Given the description of an element on the screen output the (x, y) to click on. 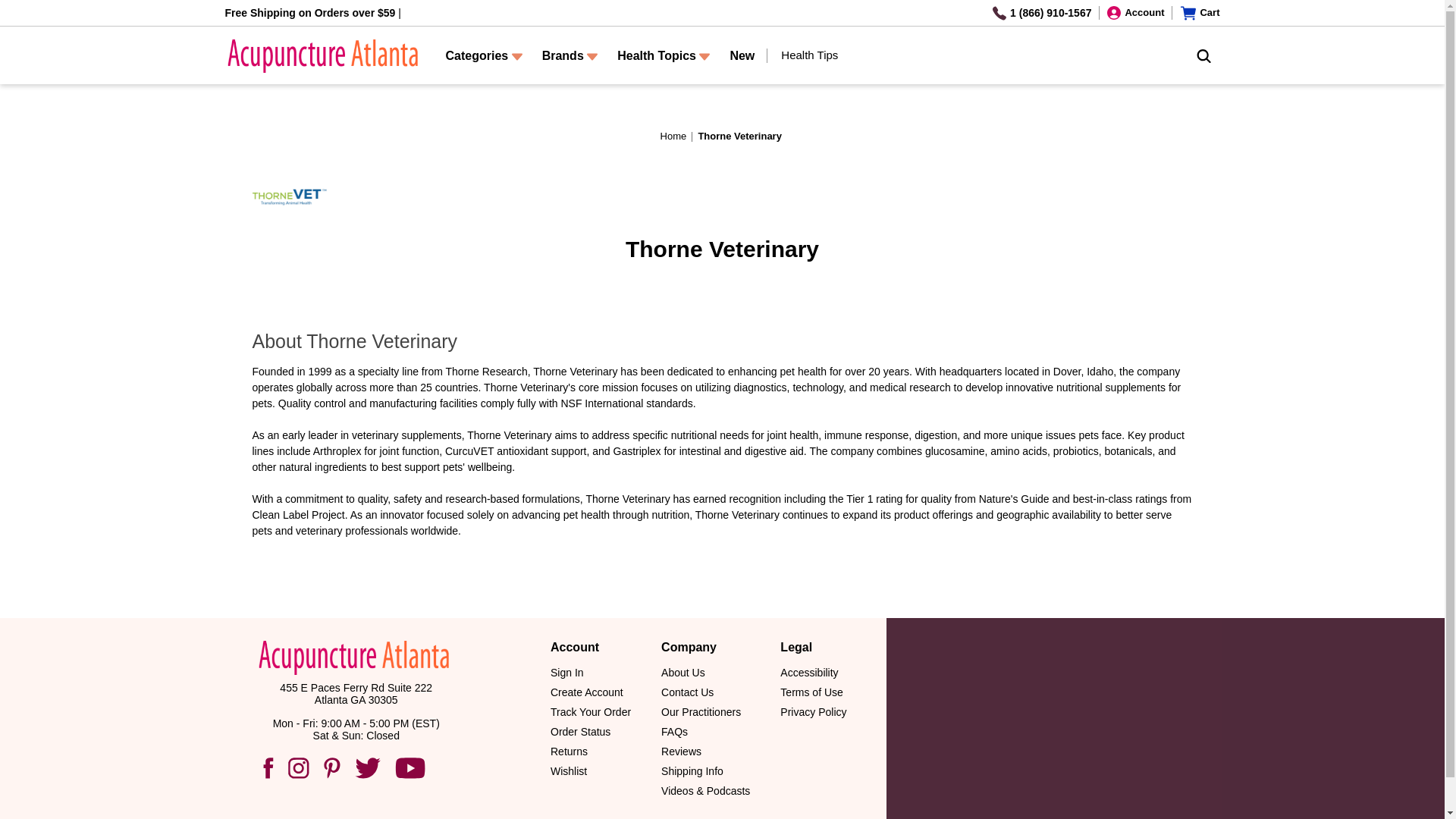
Thorne Veterinary (289, 197)
Cart (1199, 12)
Account (1134, 12)
Categories (483, 55)
Acupuncture Atlanta (320, 55)
